Given the description of an element on the screen output the (x, y) to click on. 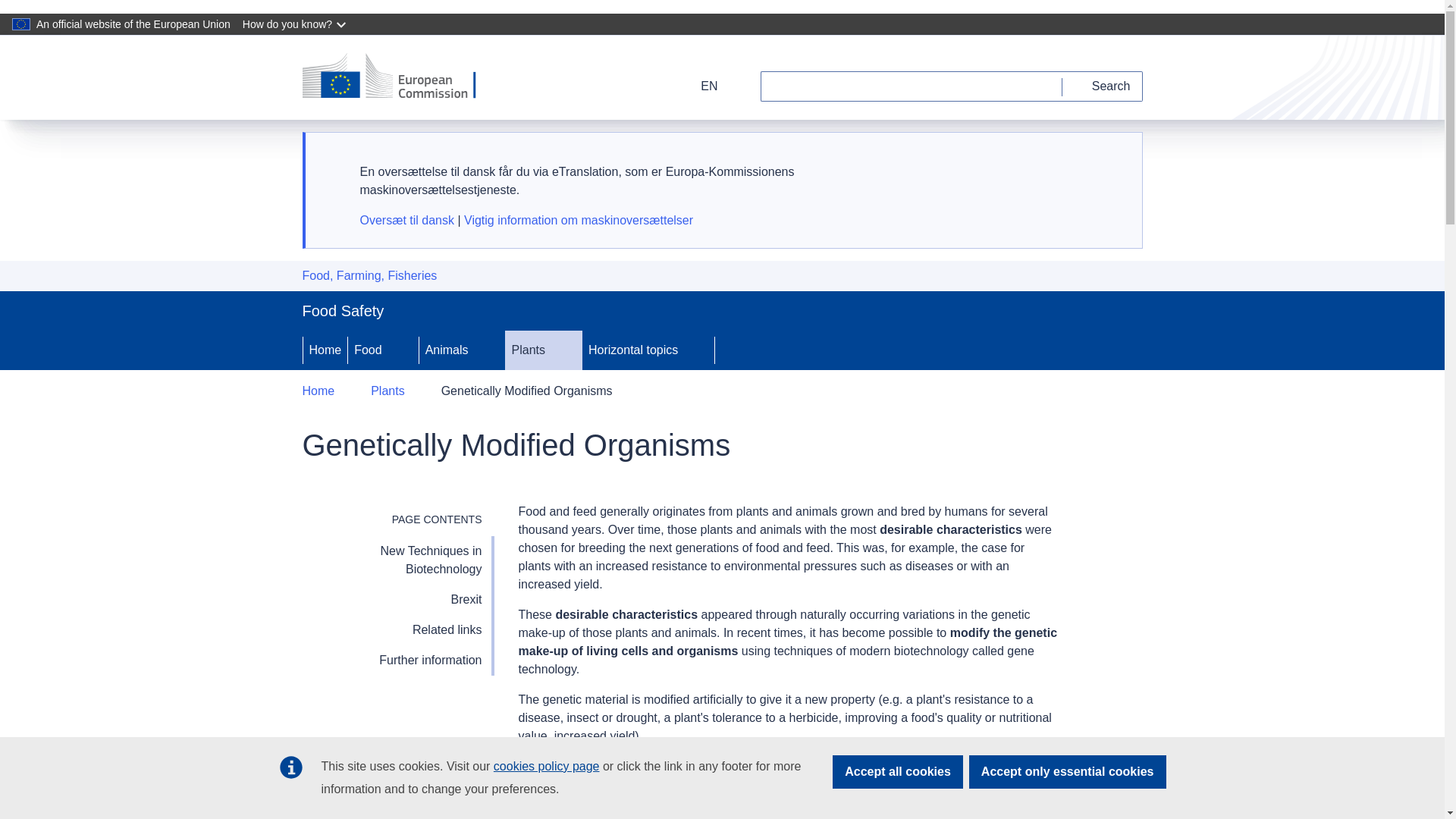
cookies policy page (546, 766)
Animals (445, 350)
Home (324, 350)
EN (699, 86)
Accept only essential cookies (1067, 771)
How do you know? (295, 24)
Search (1102, 86)
Food, Farming, Fisheries (368, 275)
Luk denne meddelelse (1112, 159)
